Given the description of an element on the screen output the (x, y) to click on. 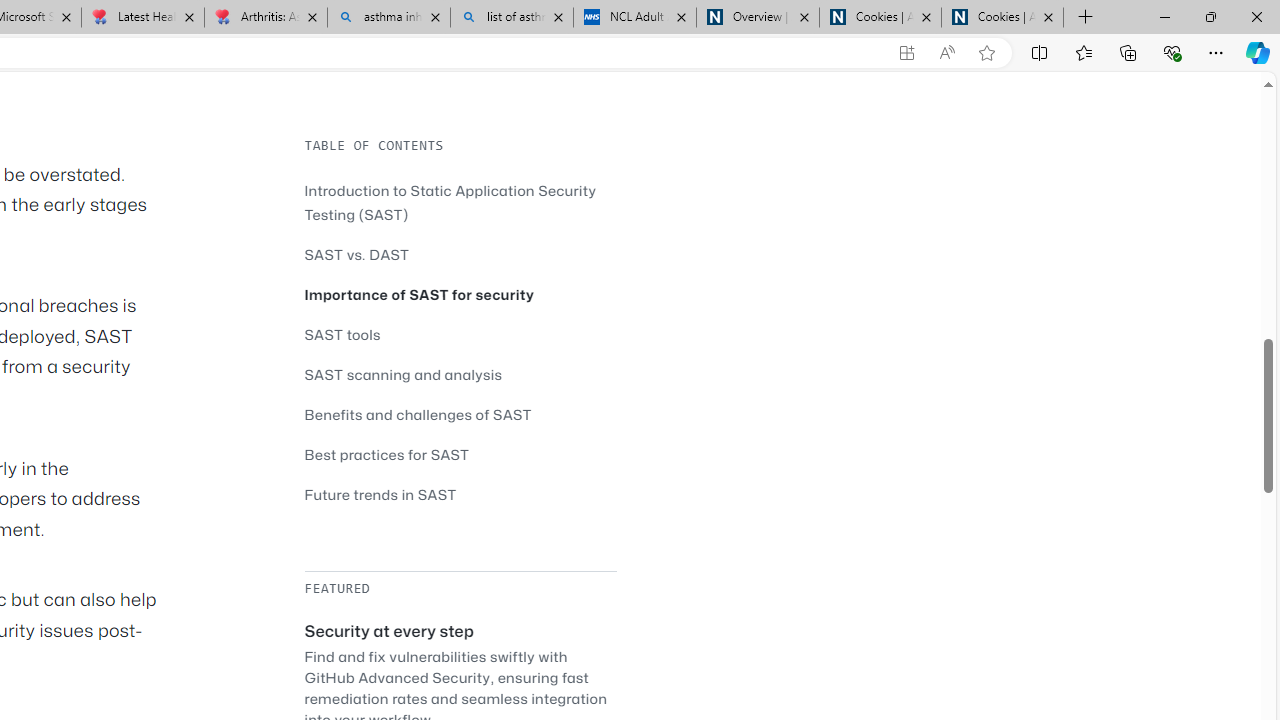
Future trends in SAST (380, 494)
SAST tools (342, 334)
Introduction to Static Application Security Testing (SAST) (460, 201)
Introduction to Static Application Security Testing (SAST) (450, 202)
NCL Adult Asthma Inhaler Choice Guideline (634, 17)
SAST scanning and analysis (460, 374)
SAST vs. DAST (460, 254)
Best practices for SAST (386, 453)
